Given the description of an element on the screen output the (x, y) to click on. 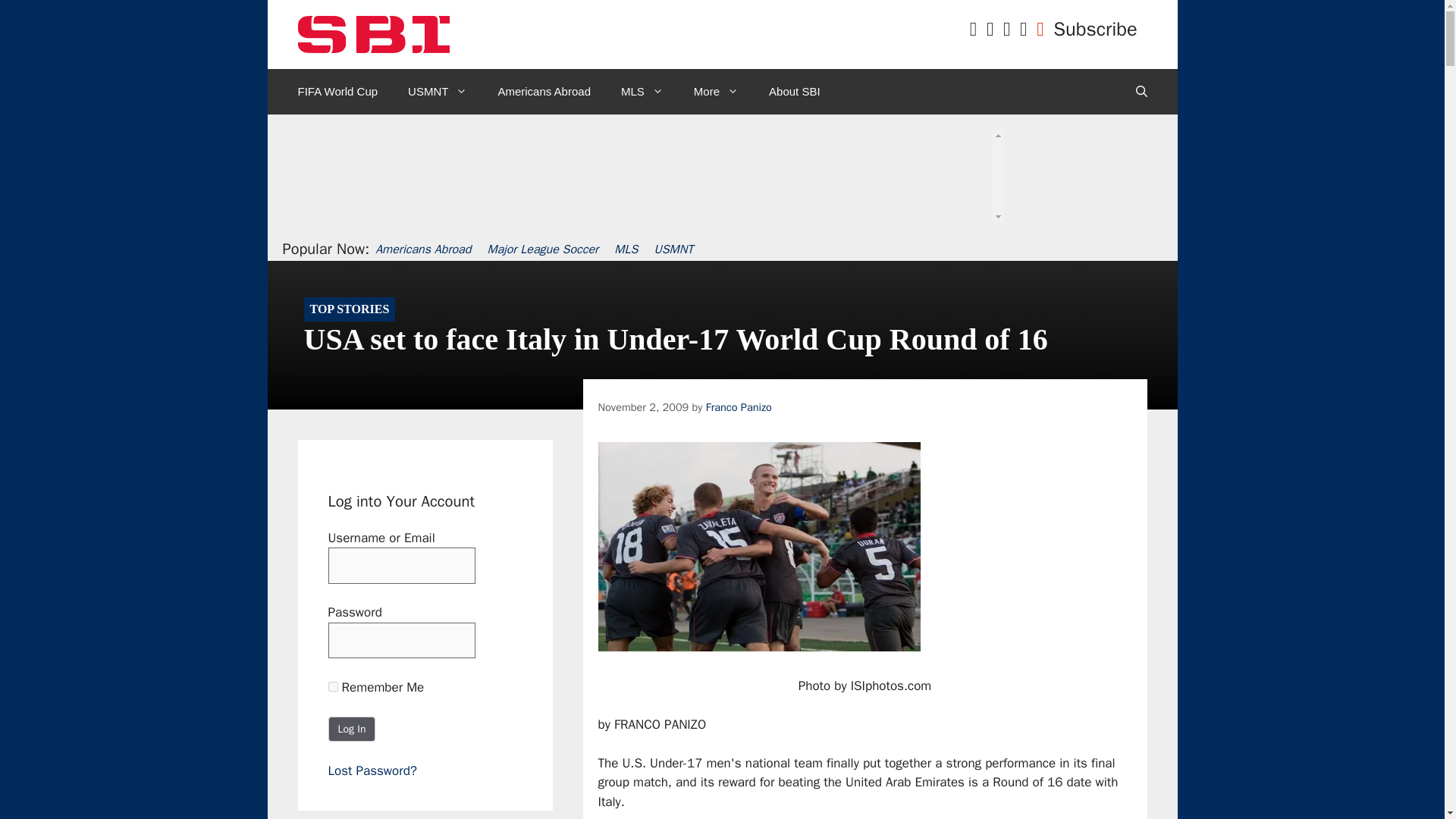
MLS (641, 91)
Subscribe (1094, 28)
FIFA World Cup (337, 91)
forever (332, 685)
Americans Abroad (543, 91)
Log In (351, 728)
USMNT (437, 91)
View all posts by Franco Panizo (738, 407)
